Given the description of an element on the screen output the (x, y) to click on. 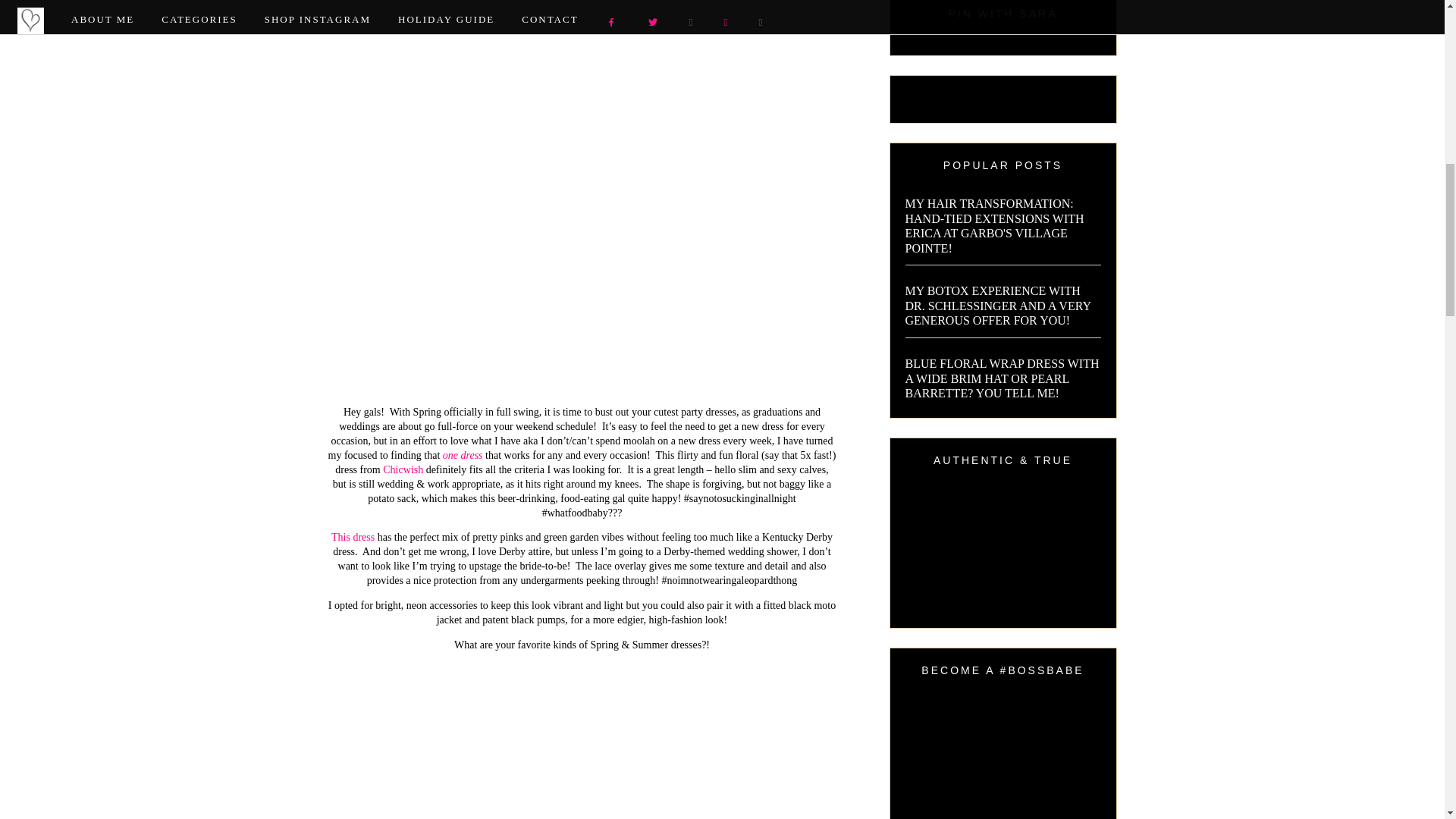
one dress (462, 455)
Chicwish (402, 469)
This dress (352, 536)
